Given the description of an element on the screen output the (x, y) to click on. 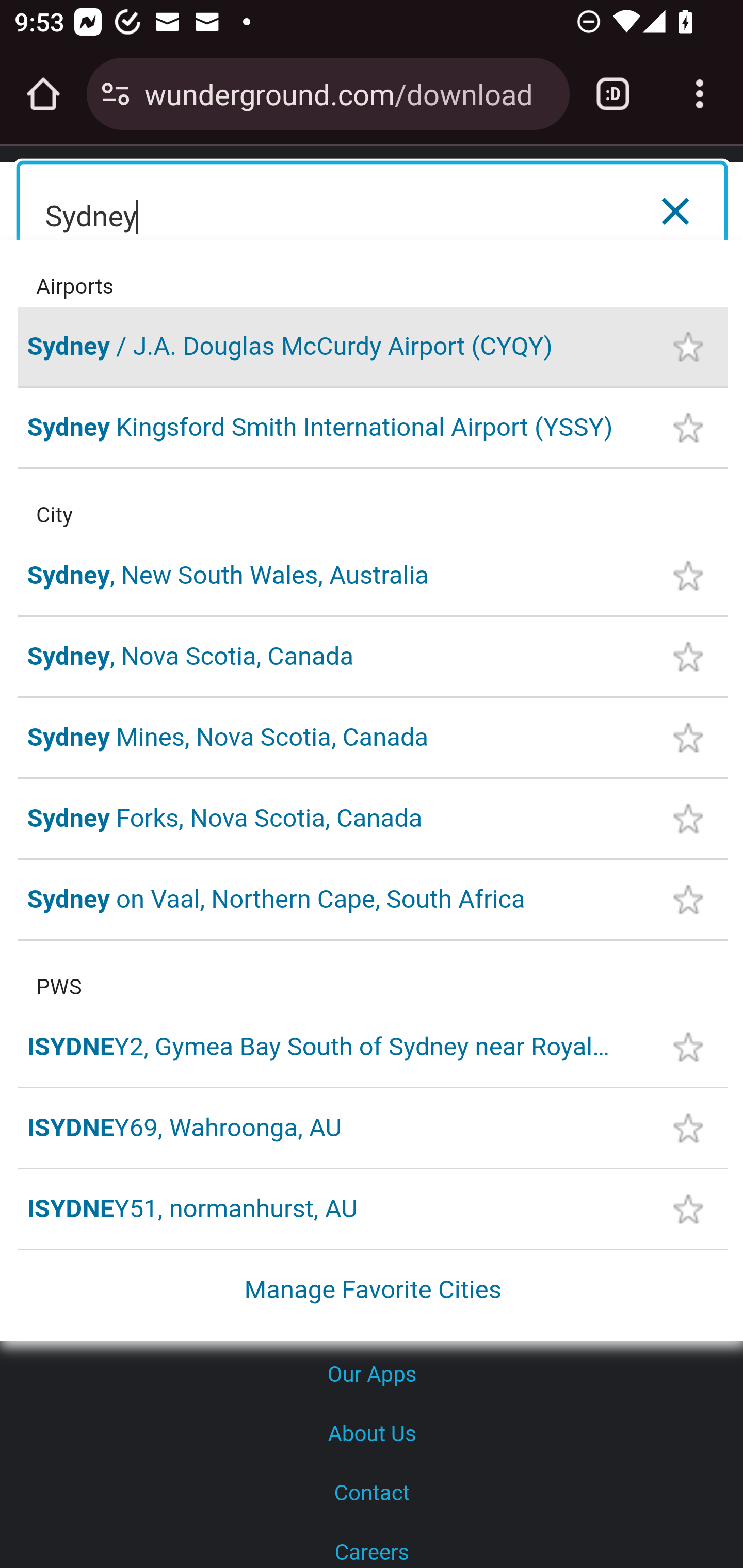
Open the home page (43, 93)
Connection is secure (115, 93)
Switch or close tabs (612, 93)
Customize and control Google Chrome (699, 93)
wunderground.com/download (349, 92)
Sydney (372, 211)
Menu (695, 208)
Manage Favorite Cities (373, 1289)
Our Apps (371, 1374)
About Us (371, 1434)
Contact (371, 1494)
Careers (371, 1546)
